Given the description of an element on the screen output the (x, y) to click on. 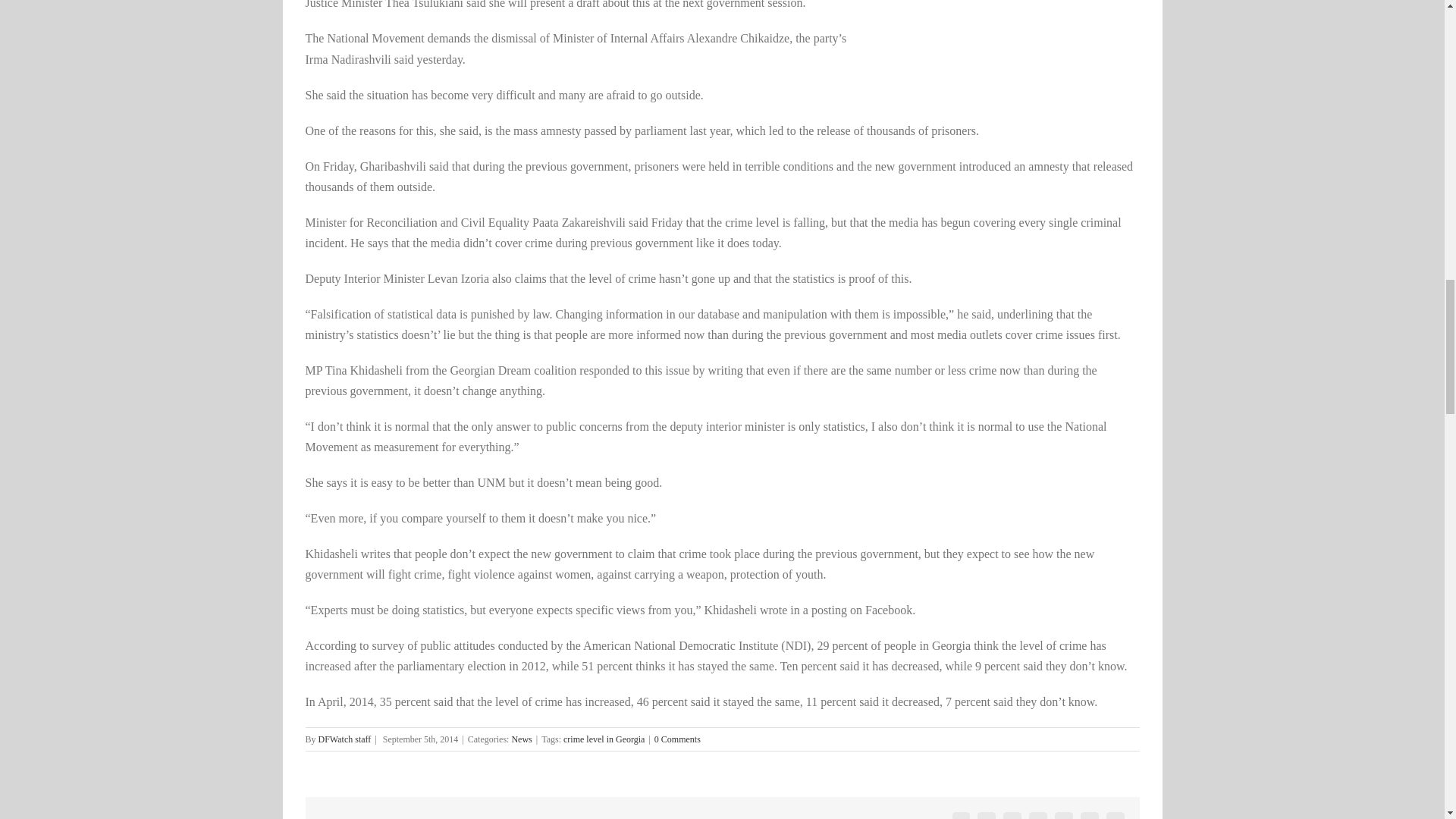
Facebook (961, 815)
Linkedin (1012, 815)
Twitter (985, 815)
Posts by DFWatch staff (344, 738)
Reddit (1037, 815)
Vk (1115, 815)
Pinterest (1089, 815)
